Given the description of an element on the screen output the (x, y) to click on. 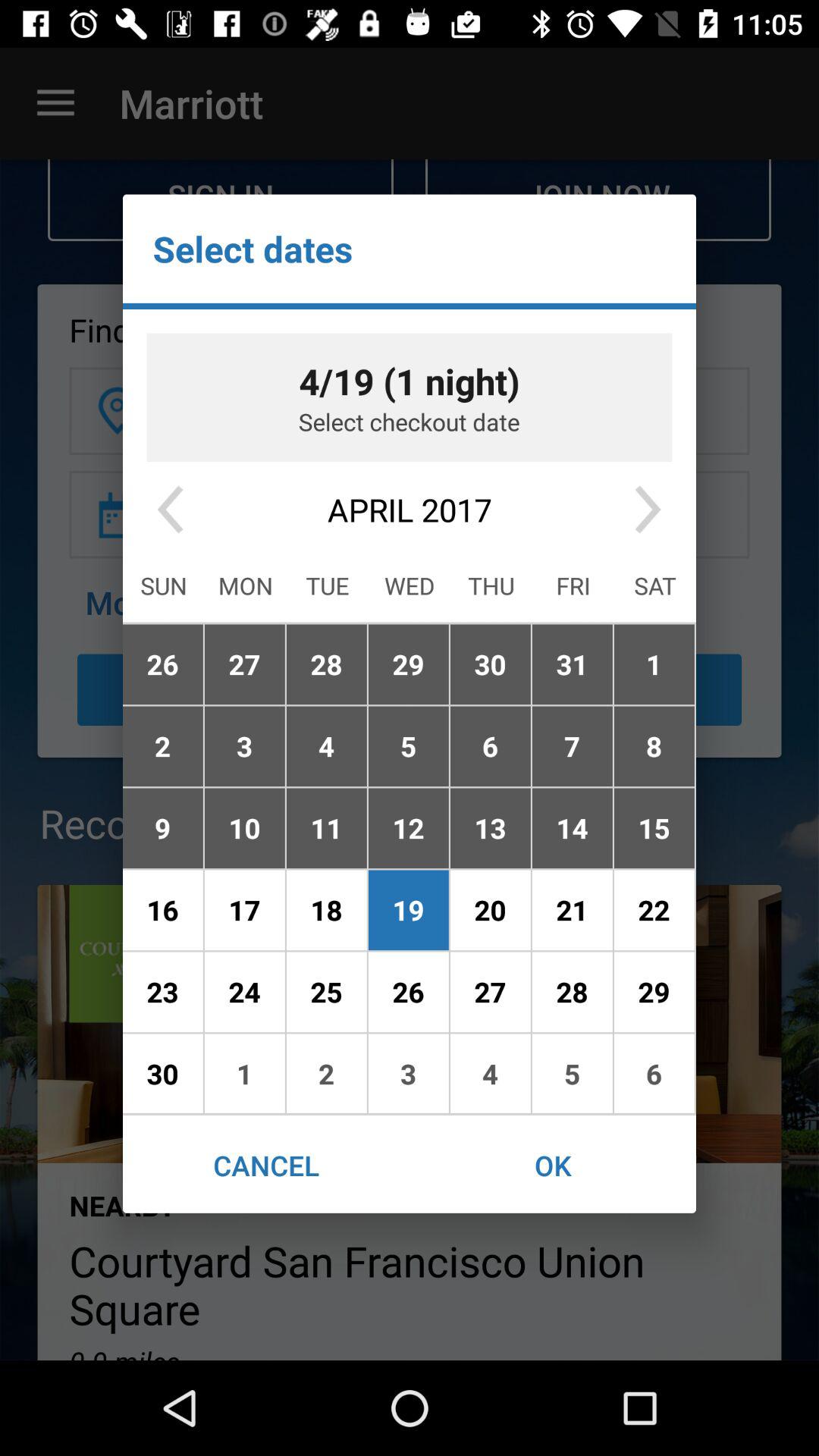
jump to the ok (552, 1165)
